Given the description of an element on the screen output the (x, y) to click on. 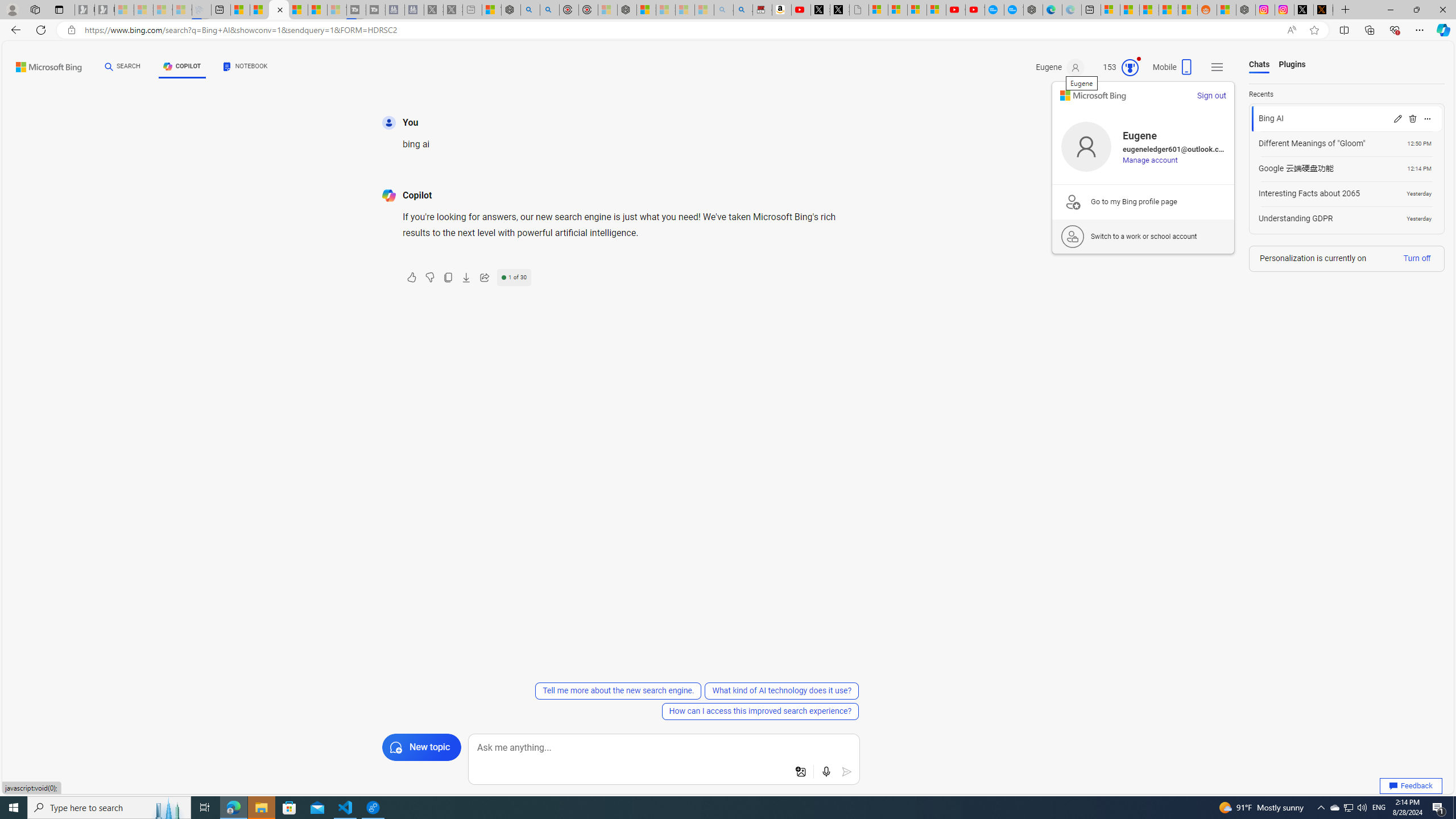
New topic (421, 746)
Wildlife - MSN (491, 9)
X (839, 9)
Plugins (1292, 65)
Amazon Echo Dot PNG - Search Images (742, 9)
Add an image to search (800, 771)
COPILOT (181, 66)
YouTube Kids - An App Created for Kids to Explore Content (975, 9)
View site information (70, 29)
poe ++ standard - Search (549, 9)
